Given the description of an element on the screen output the (x, y) to click on. 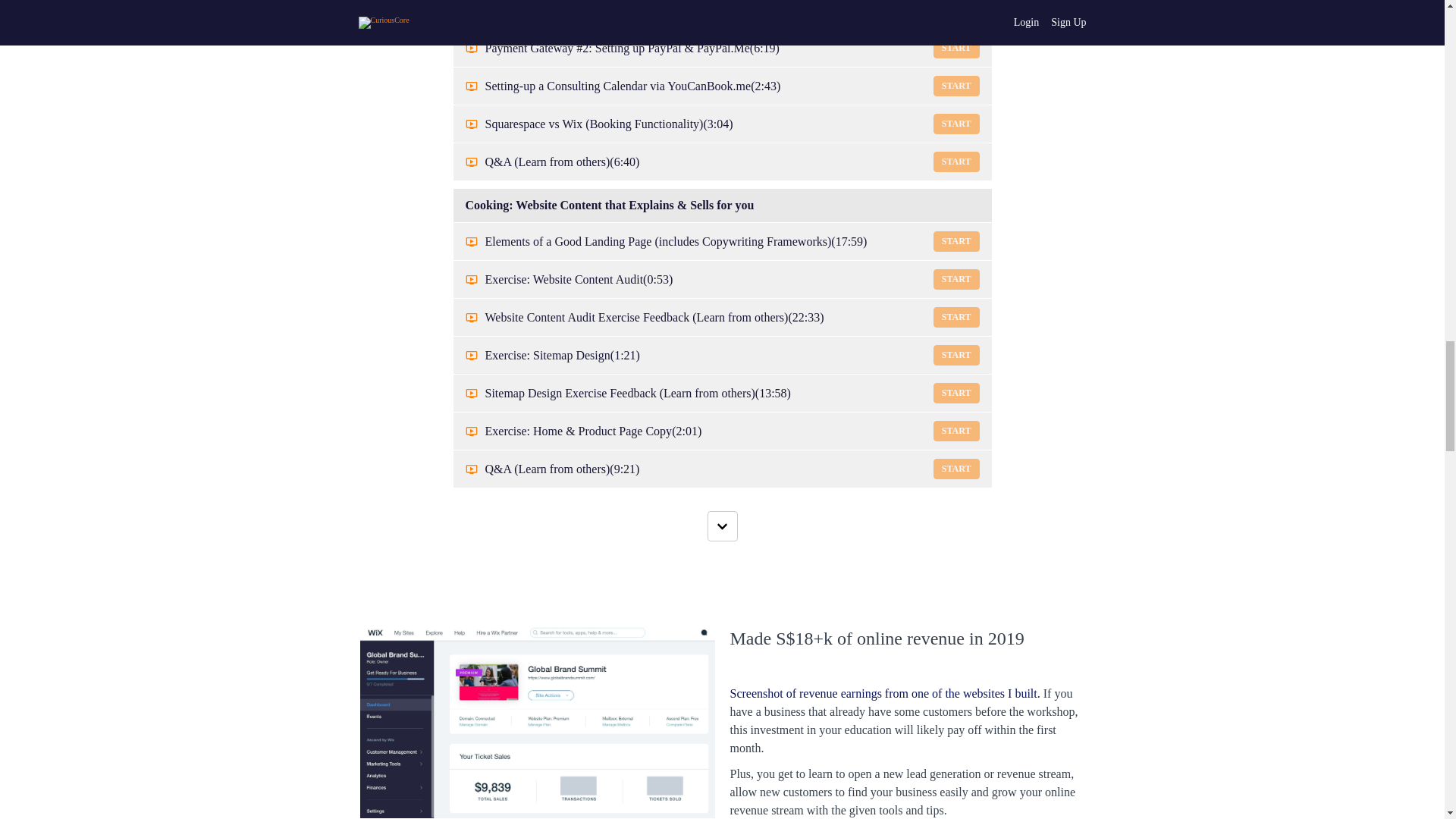
START (956, 47)
START (956, 10)
START (956, 240)
START (956, 279)
START (956, 123)
START (956, 86)
START (956, 161)
